Given the description of an element on the screen output the (x, y) to click on. 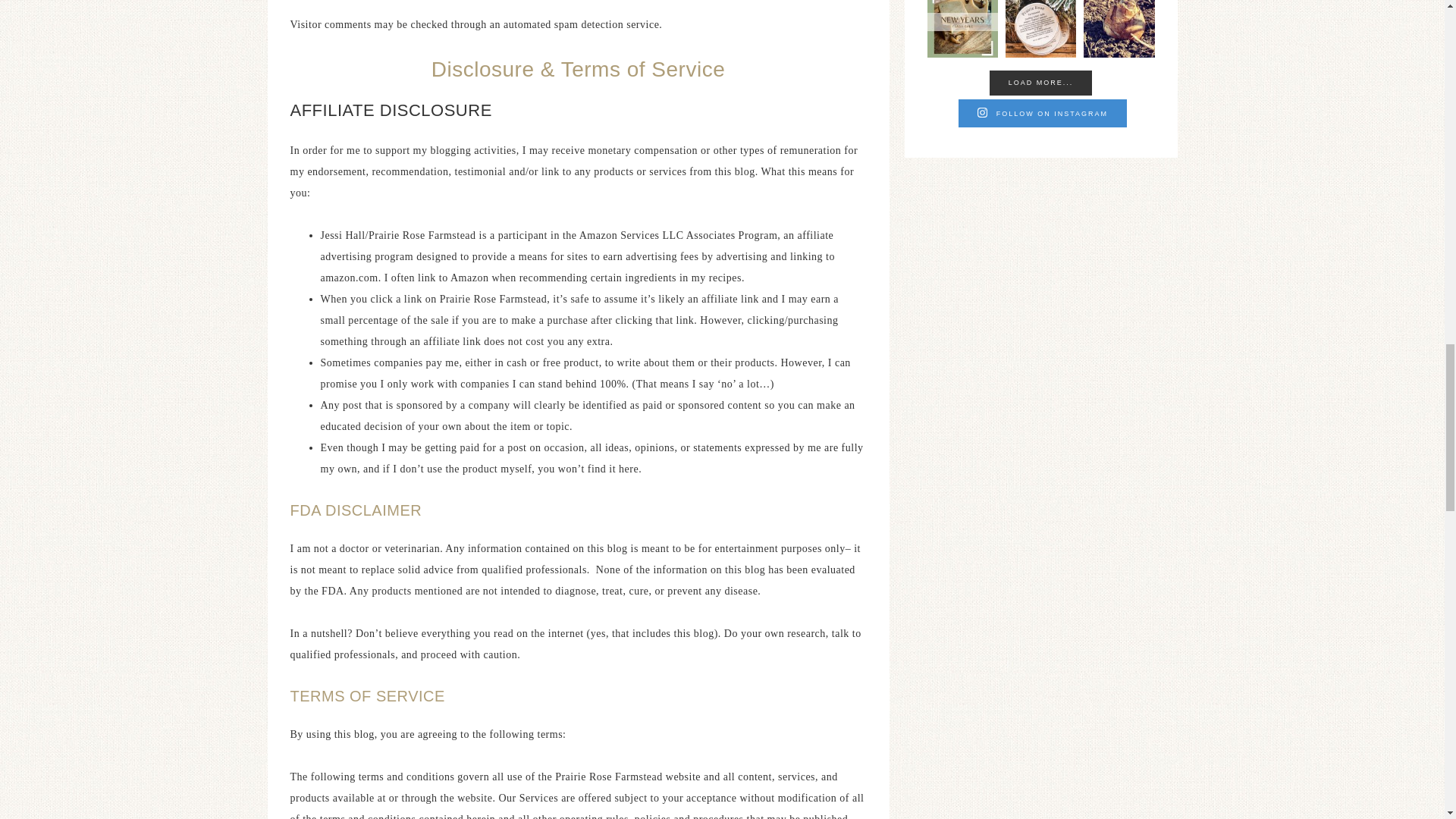
LOAD MORE... (1041, 82)
FOLLOW ON INSTAGRAM (1042, 113)
